Given the description of an element on the screen output the (x, y) to click on. 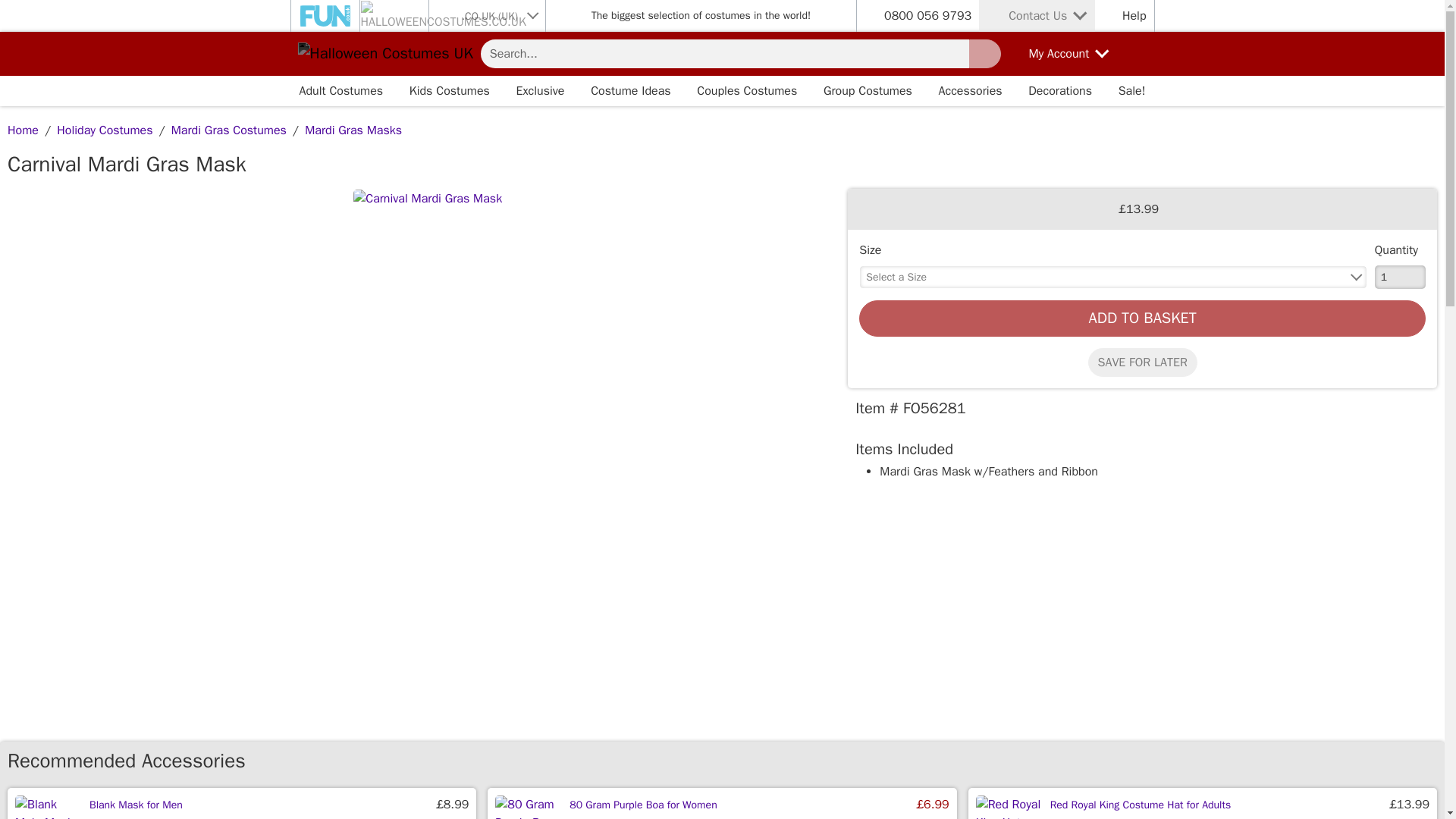
0800 056 9793 (927, 15)
My Account (1057, 54)
80 Gram Purple Boa for Women (642, 804)
Blank Mask for Men (135, 804)
1 (1399, 277)
Red Royal King Costume Hat for Adults (1140, 804)
Contact Us (1036, 15)
Adult Costumes (340, 91)
Help (1124, 15)
